Given the description of an element on the screen output the (x, y) to click on. 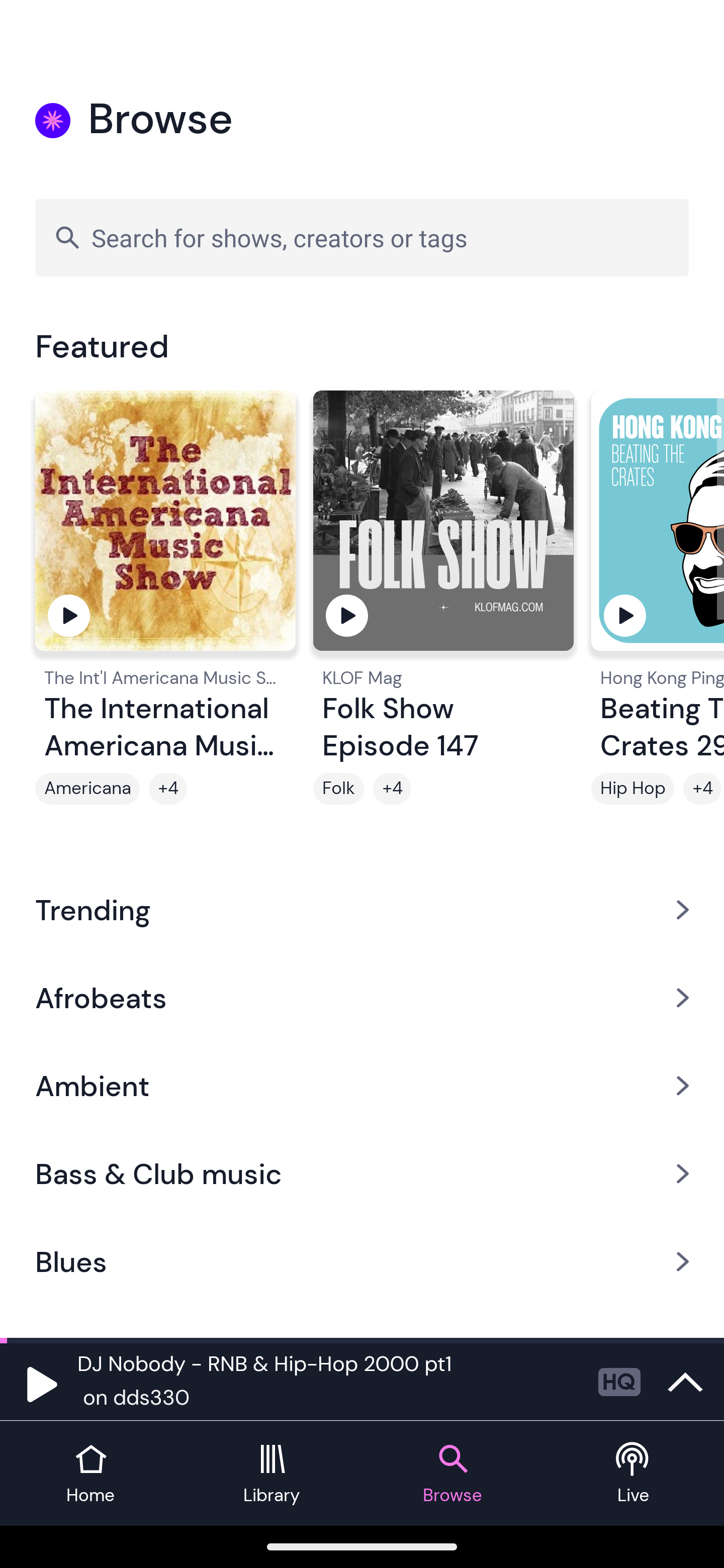
Search for shows, creators or tags (361, 237)
Americana (87, 788)
Folk (338, 788)
Hip Hop (632, 788)
Trending (361, 909)
Afrobeats (361, 997)
Ambient (361, 1085)
Bass & Club music (361, 1174)
Blues (361, 1262)
Home tab Home (90, 1473)
Library tab Library (271, 1473)
Browse tab Browse (452, 1473)
Live tab Live (633, 1473)
